Given the description of an element on the screen output the (x, y) to click on. 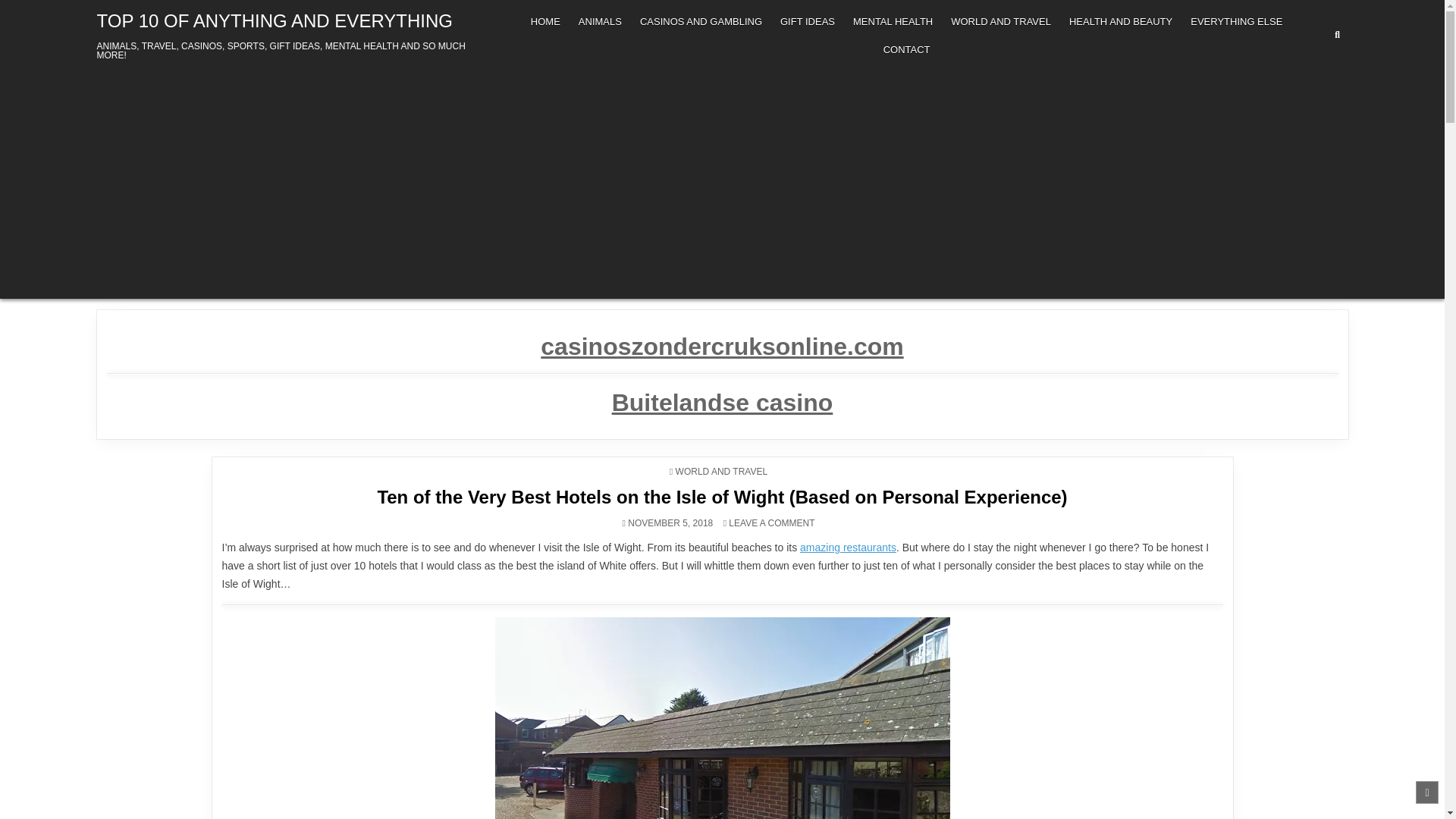
TOP 10 OF ANYTHING AND EVERYTHING (274, 20)
MENTAL HEALTH (893, 21)
amazing restaurants (847, 547)
ANIMALS (599, 21)
WORLD AND TRAVEL (721, 471)
SCROLL TO TOP (1426, 792)
casinoszondercruksonline.com (721, 346)
CASINOS AND GAMBLING (700, 21)
HOME (545, 21)
